Given the description of an element on the screen output the (x, y) to click on. 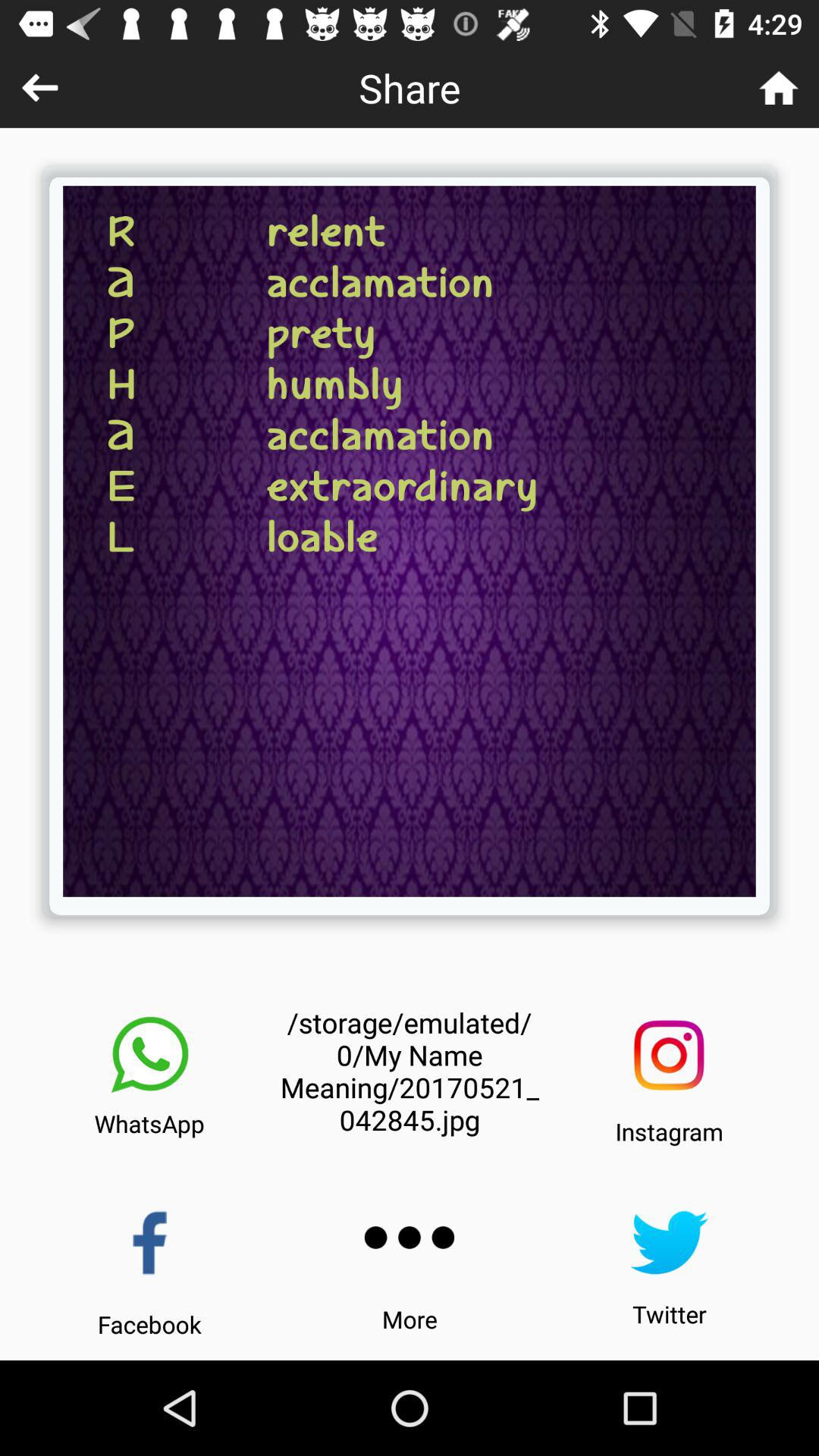
share on the whatsapp app (149, 1055)
